Given the description of an element on the screen output the (x, y) to click on. 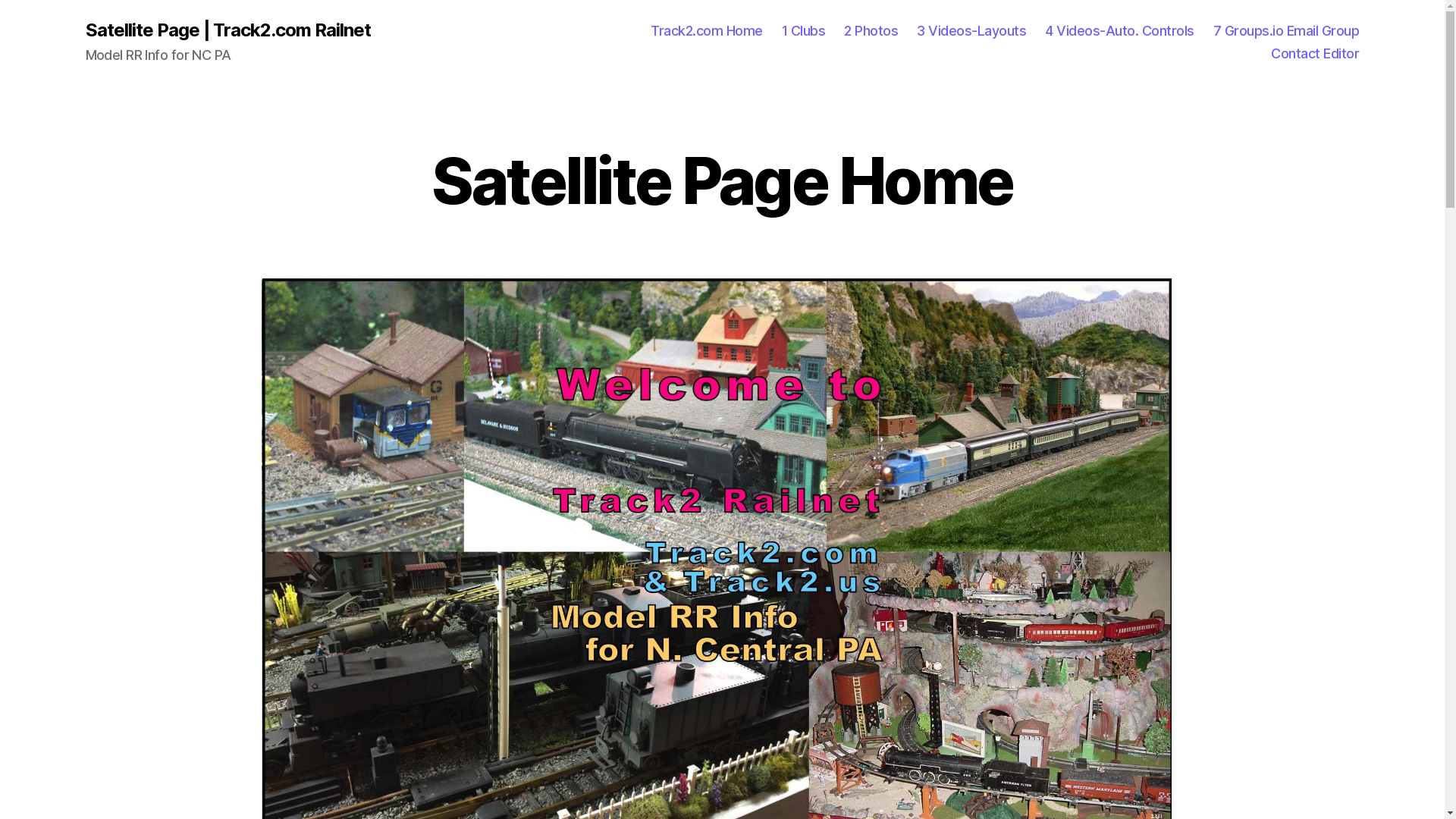
7 Groups.io Email Group Element type: text (1286, 30)
2 Photos Element type: text (870, 30)
Contact Editor Element type: text (1314, 53)
1 Clubs Element type: text (803, 30)
4 Videos-Auto. Controls Element type: text (1119, 30)
Track2.com Home Element type: text (706, 30)
3 Videos-Layouts Element type: text (971, 30)
Satellite Page | Track2.com Railnet Element type: text (227, 30)
